Given the description of an element on the screen output the (x, y) to click on. 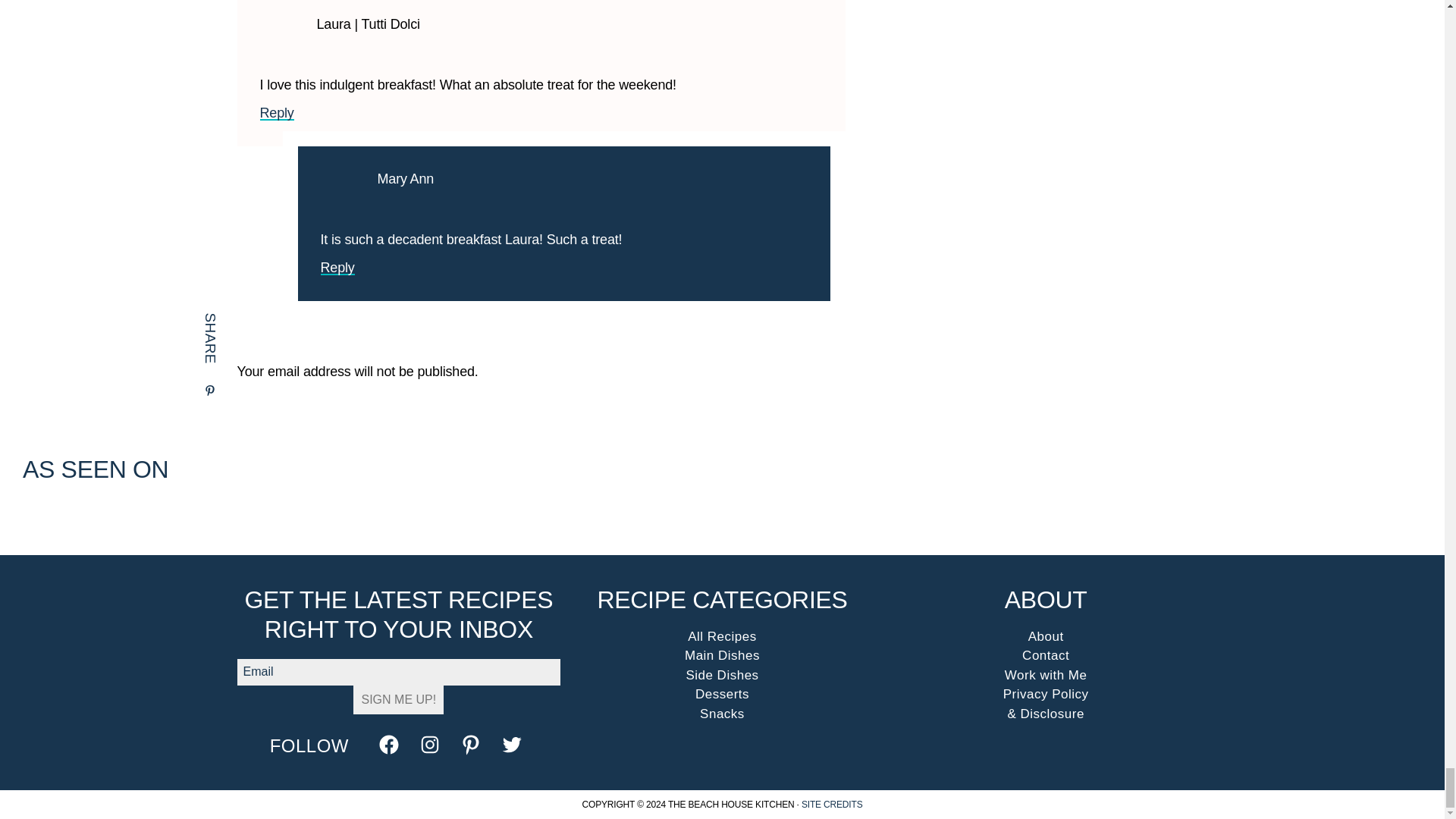
SIGN ME UP! (398, 699)
